Given the description of an element on the screen output the (x, y) to click on. 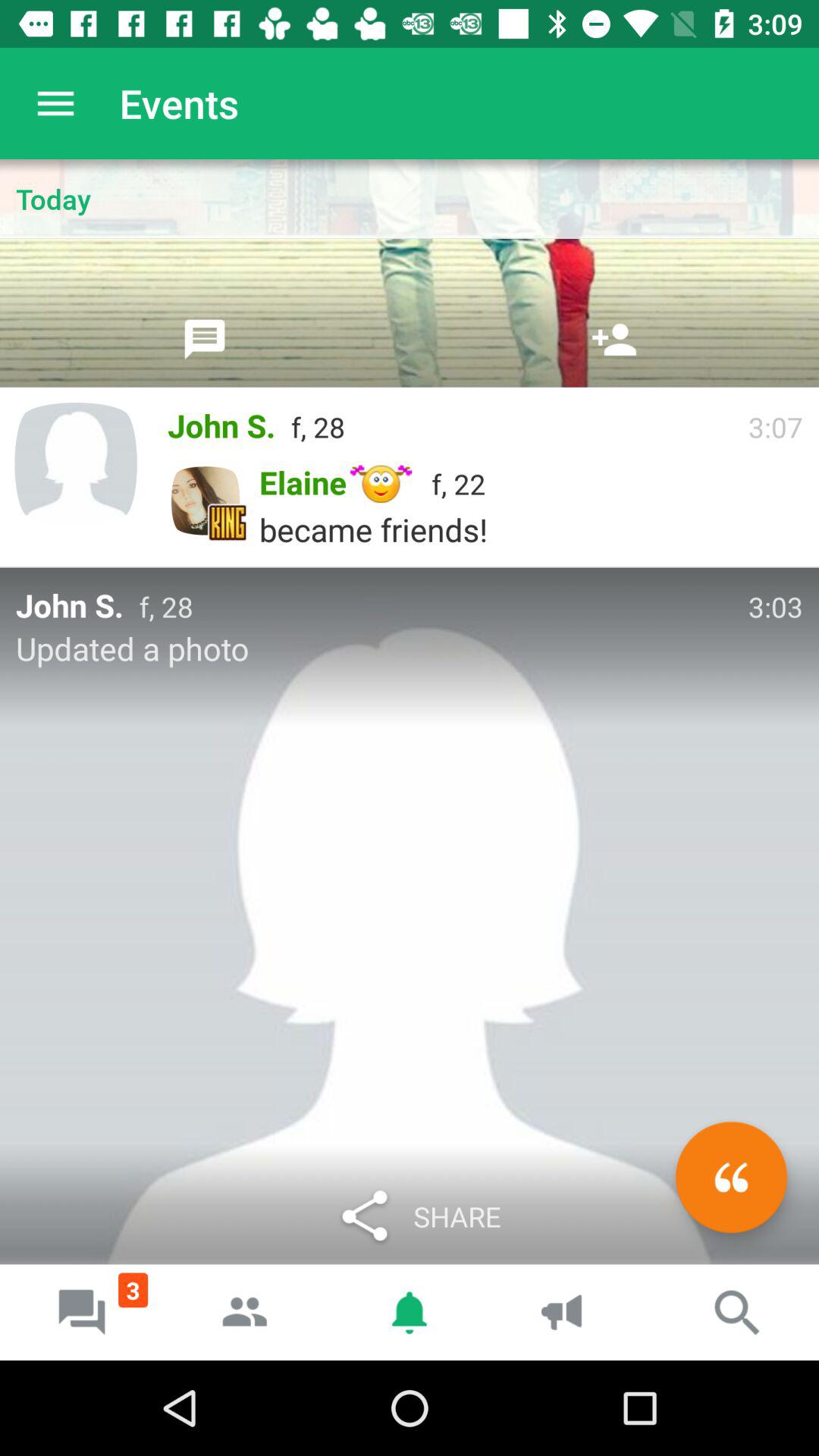
tap icon next to the events app (55, 103)
